Given the description of an element on the screen output the (x, y) to click on. 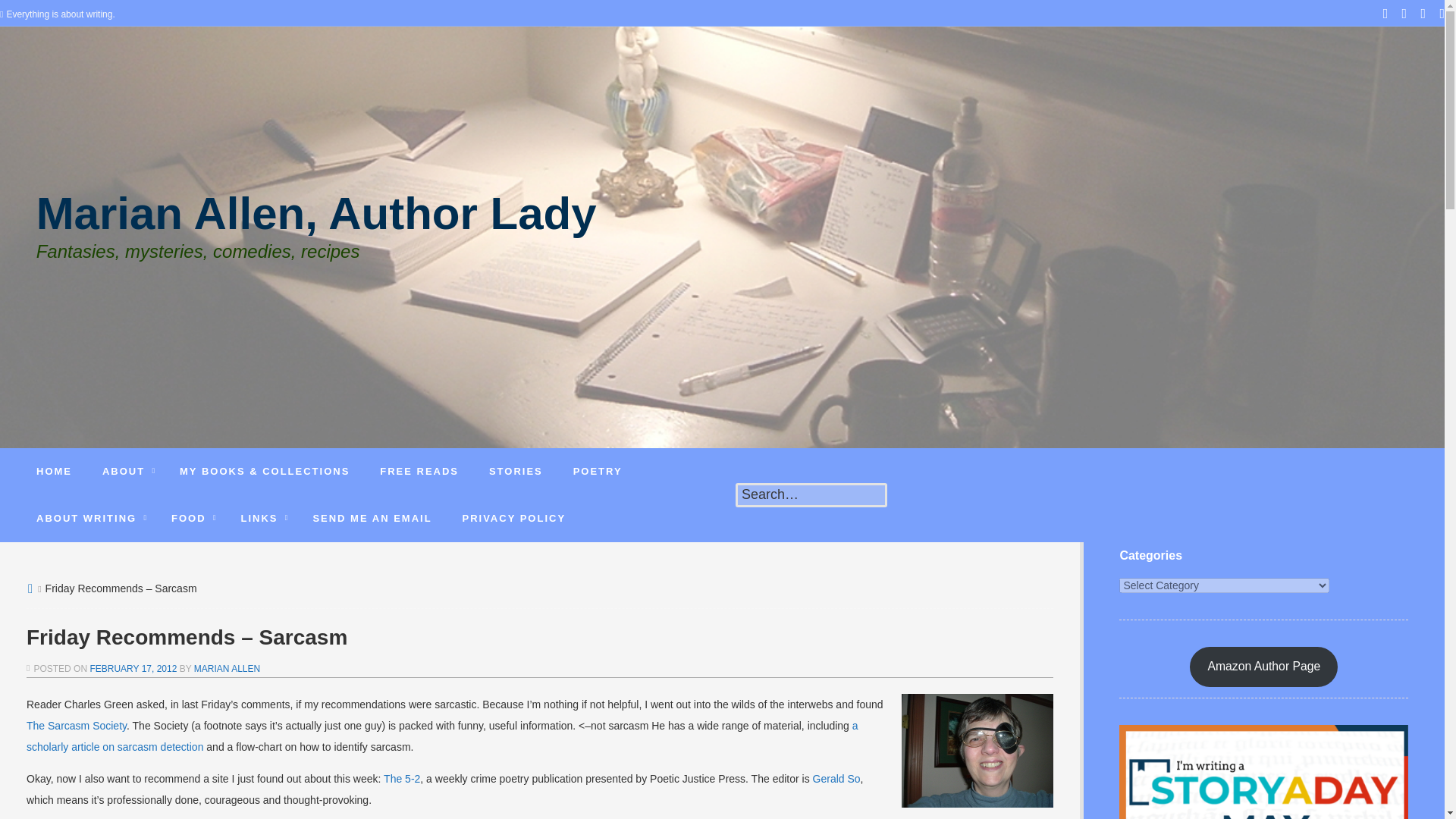
Marian Allen, Author Lady (316, 224)
ABOUT (125, 471)
happy eye (976, 750)
View all posts by Marian Allen (226, 668)
9:15 am (132, 668)
HOME (54, 471)
